Given the description of an element on the screen output the (x, y) to click on. 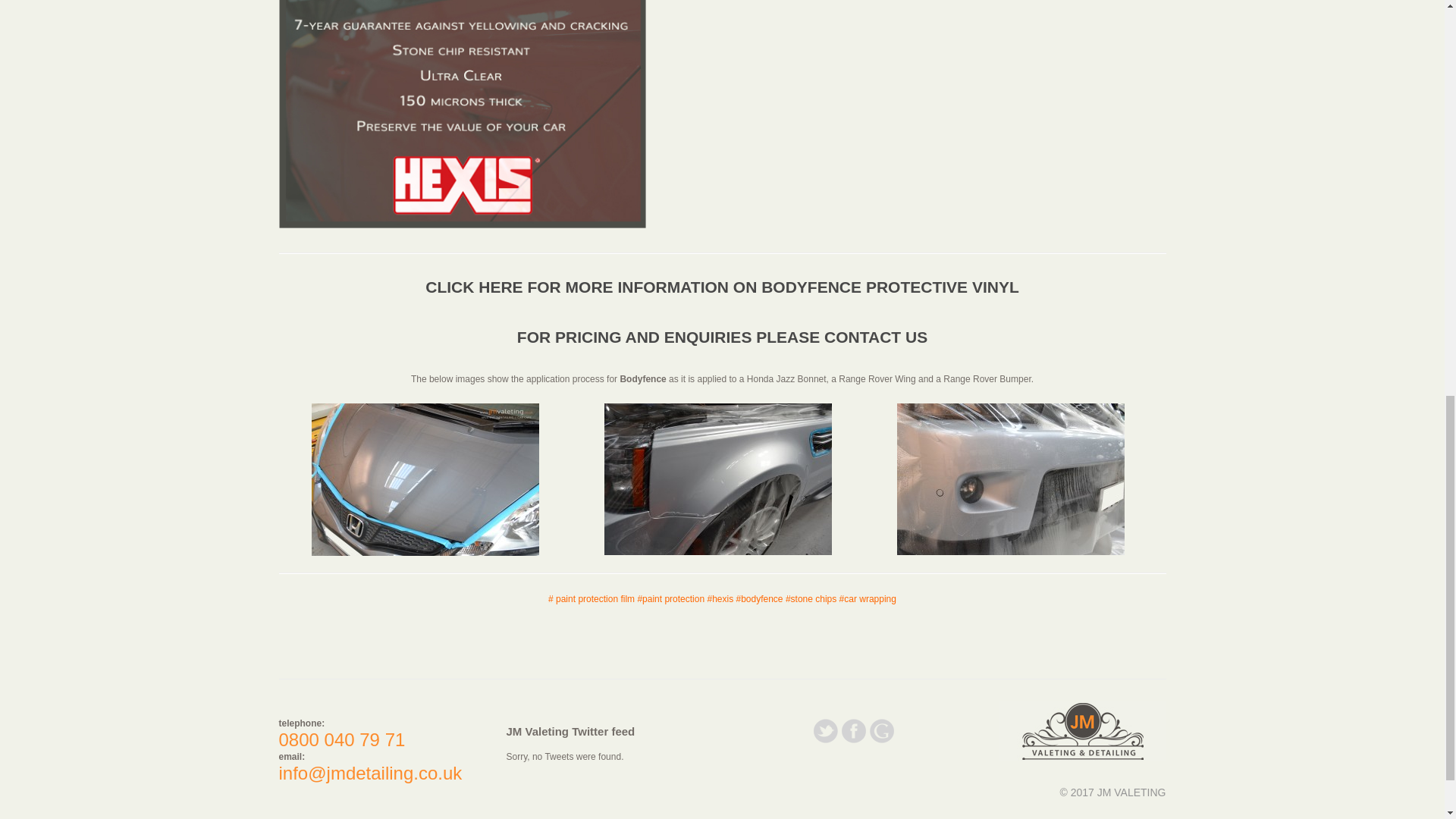
facebook (853, 743)
FOR PRICING AND ENQUIRIES PLEASE CONTACT US (721, 336)
google (881, 743)
twitter (824, 743)
